Given the description of an element on the screen output the (x, y) to click on. 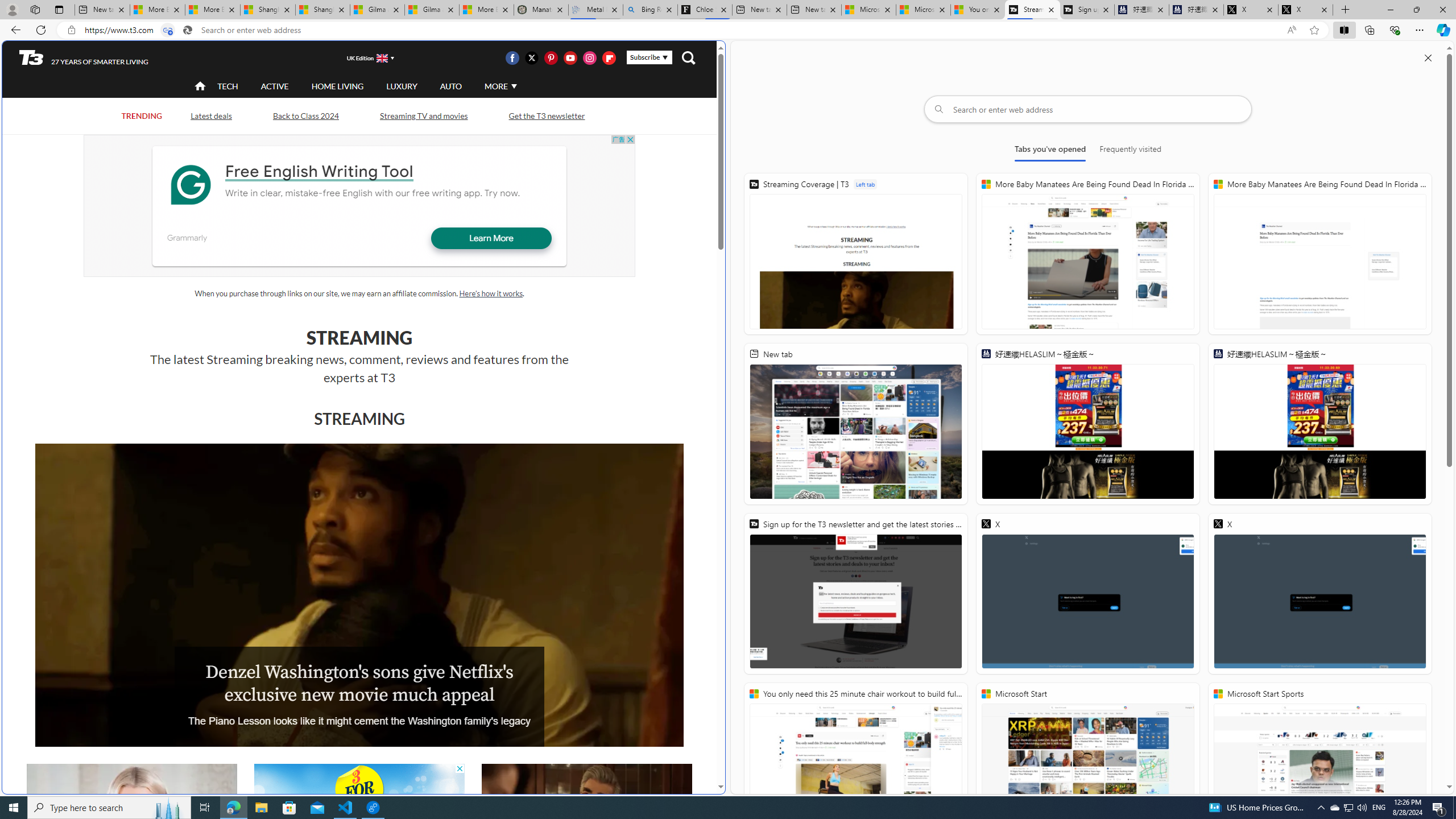
T3 (30, 56)
Chloe Sorvino (704, 9)
MORE  (499, 86)
Visit us on Facebook (512, 57)
Class: navigation__item (199, 86)
HOME LIVING (337, 85)
